Given the description of an element on the screen output the (x, y) to click on. 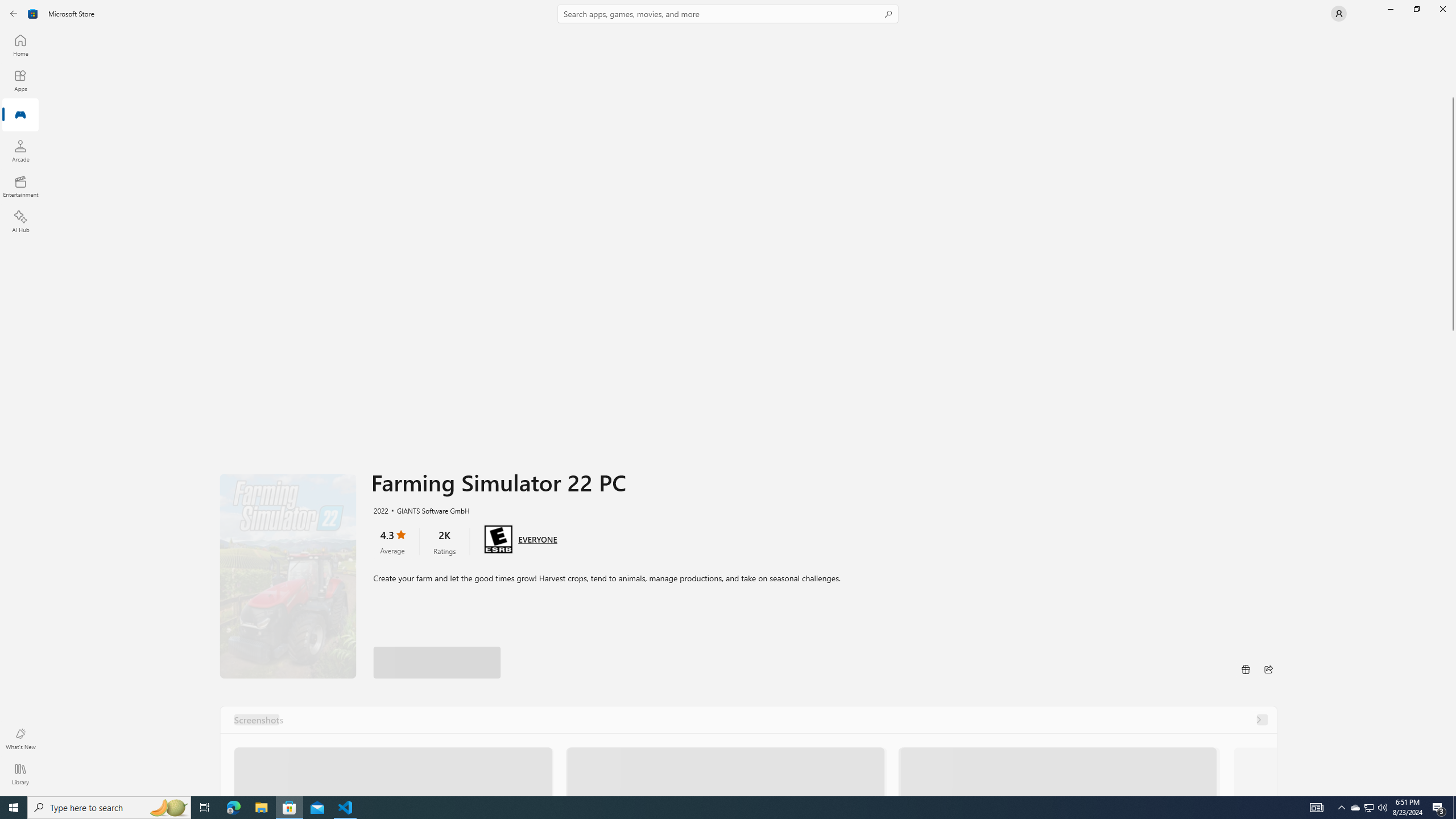
Share (1267, 669)
Back (13, 13)
